Given the description of an element on the screen output the (x, y) to click on. 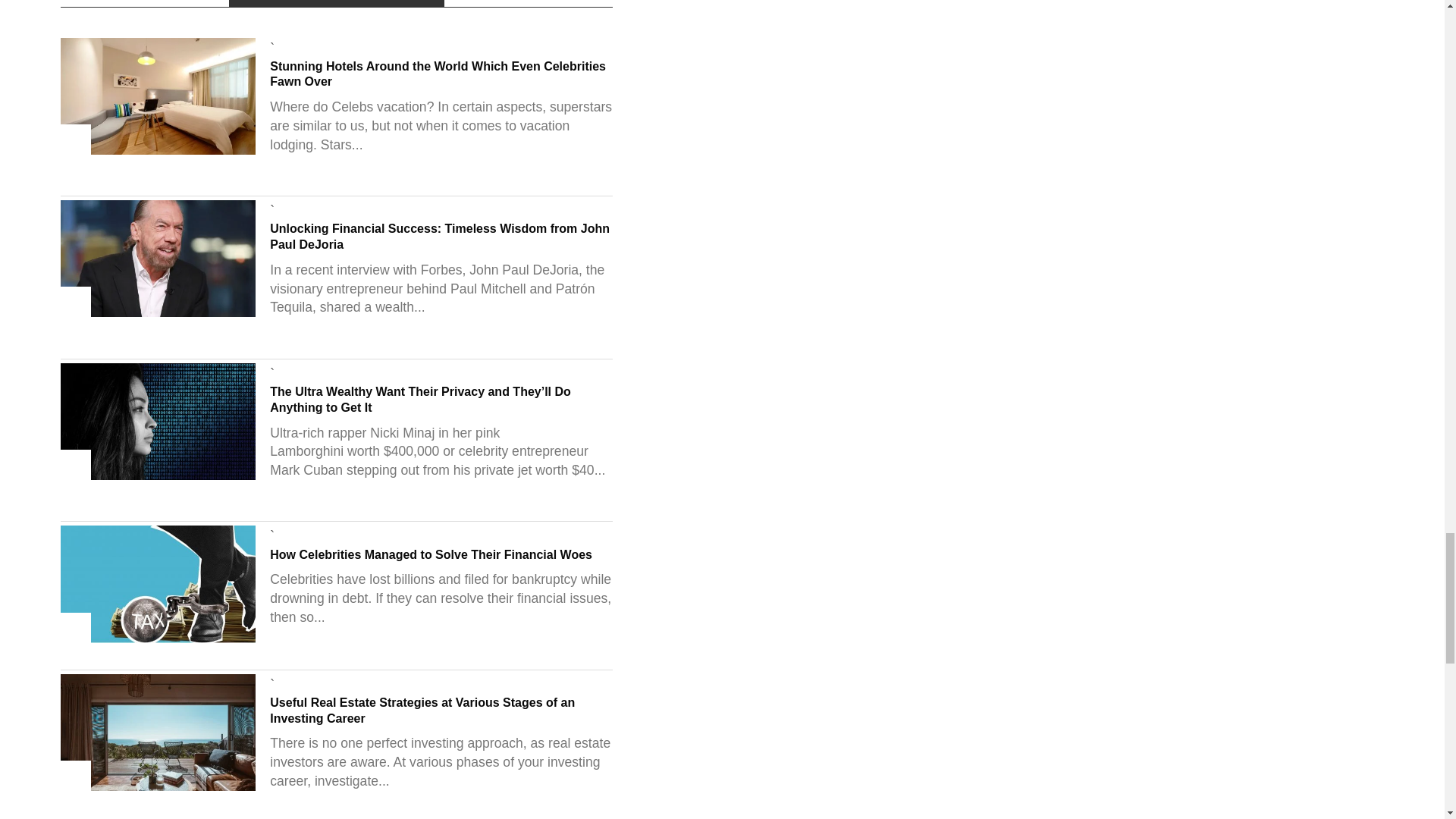
How Celebrities Managed to Solve Their Financial Woes (158, 638)
